Given the description of an element on the screen output the (x, y) to click on. 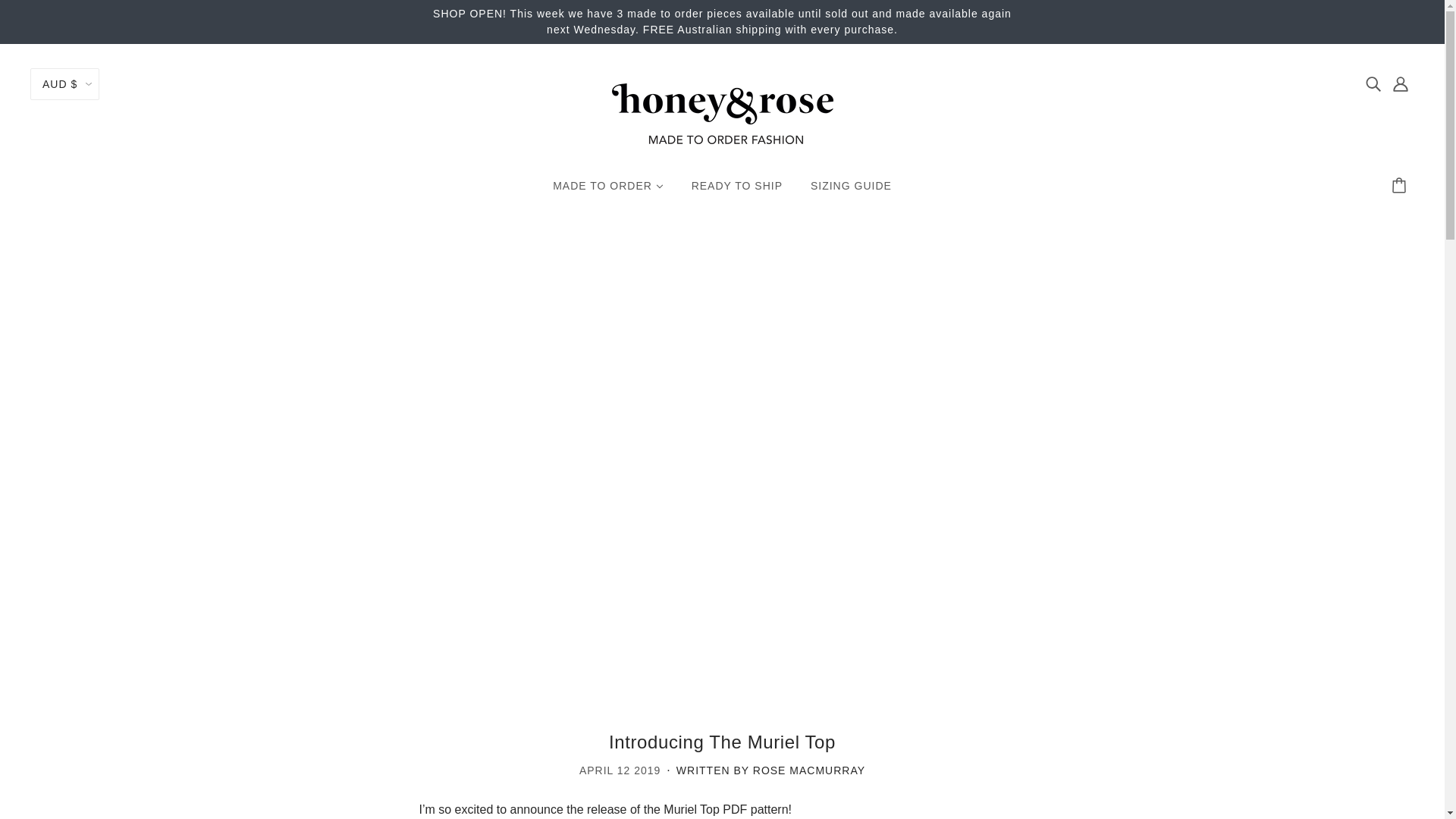
READY TO SHIP (736, 191)
MADE TO ORDER (607, 191)
SIZING GUIDE (850, 191)
